Given the description of an element on the screen output the (x, y) to click on. 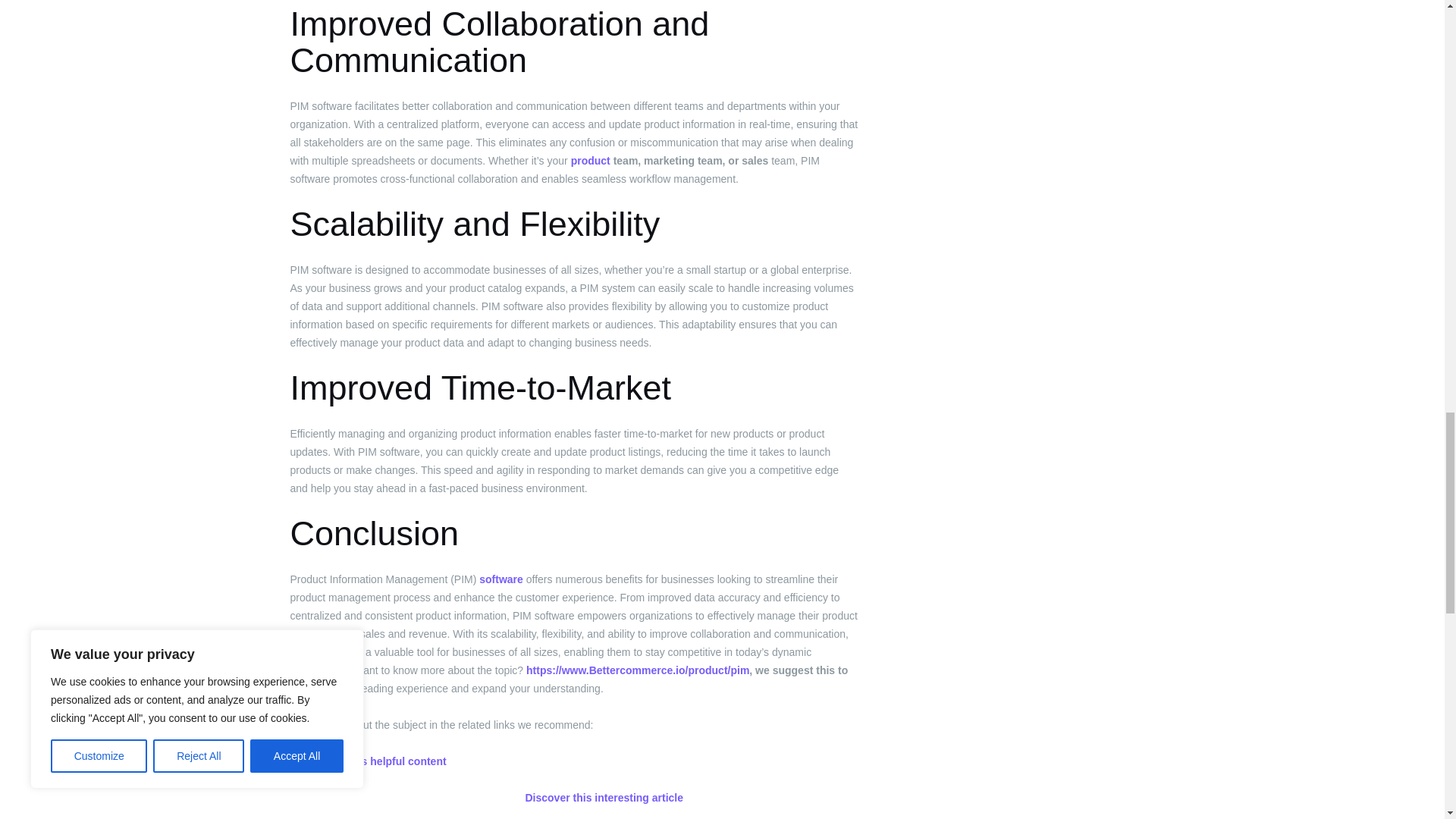
Learn from this helpful content (367, 761)
Discover this interesting article (603, 797)
product (590, 160)
software (500, 579)
